Given the description of an element on the screen output the (x, y) to click on. 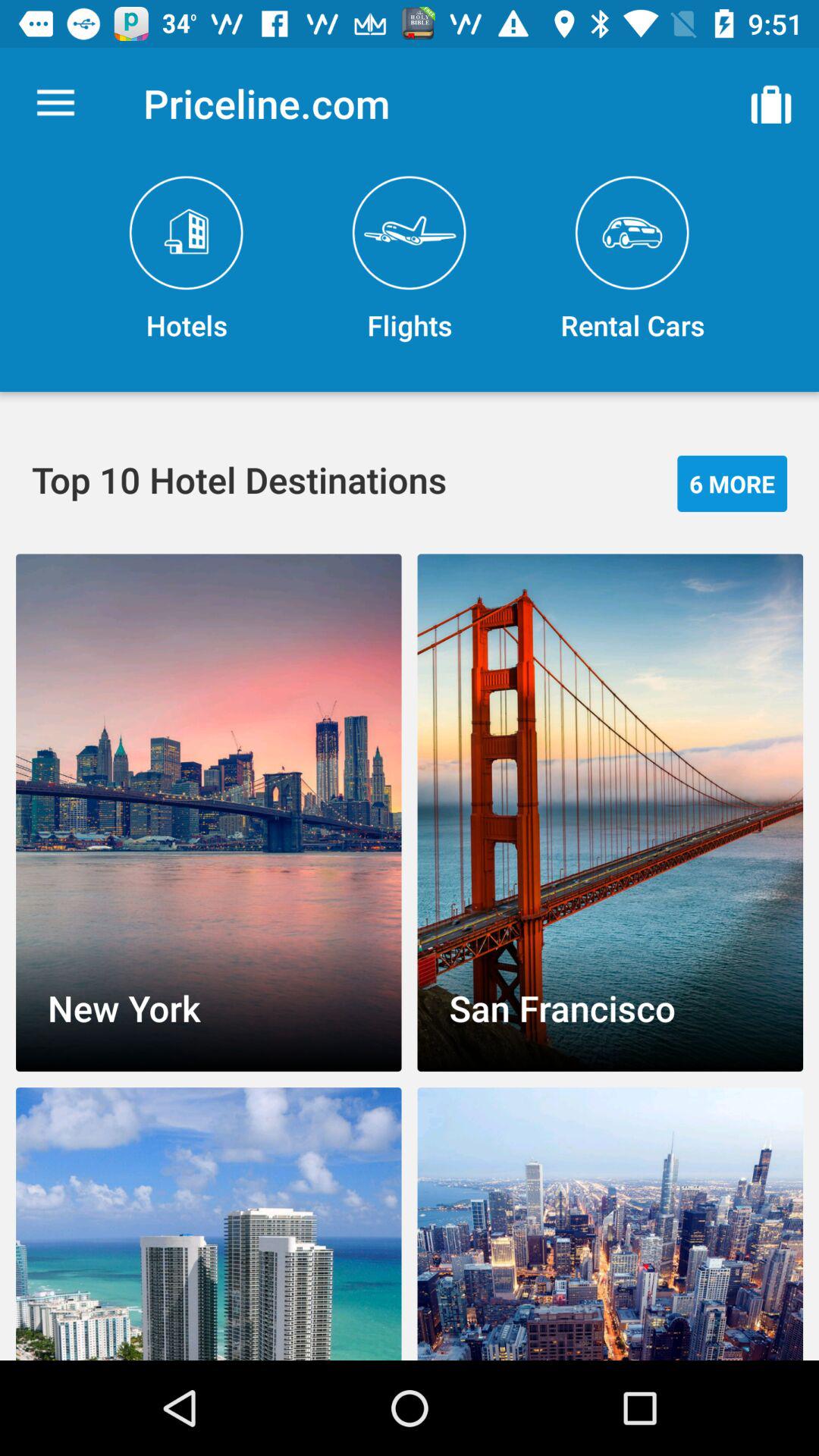
tap the icon next to flights (631, 259)
